Given the description of an element on the screen output the (x, y) to click on. 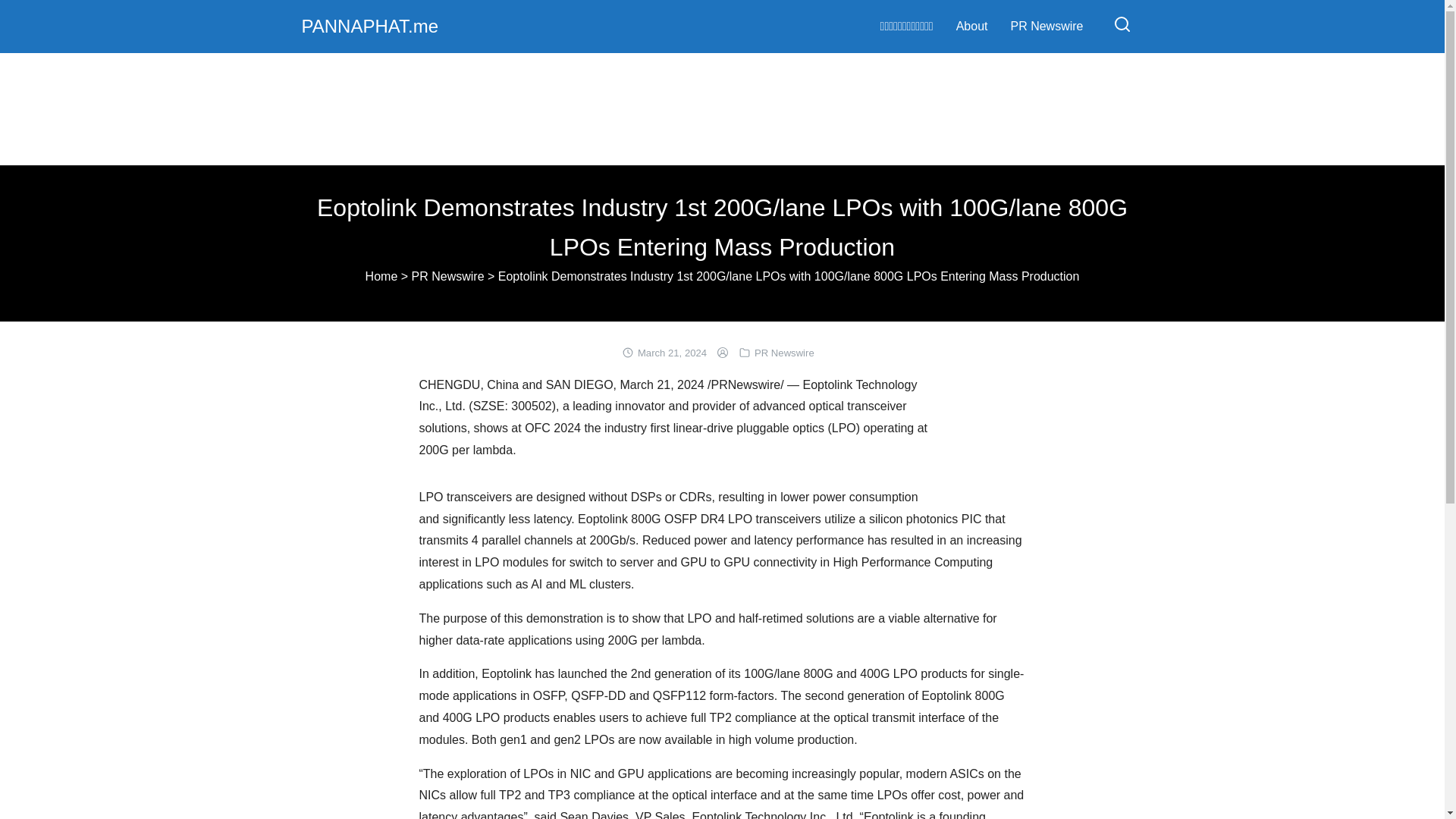
March 21, 2024 (671, 352)
PR Newswire (1046, 26)
Home (381, 276)
PANNAPHAT.me (369, 25)
PR Newswire (783, 352)
PR Newswire (448, 276)
About (971, 26)
